Given the description of an element on the screen output the (x, y) to click on. 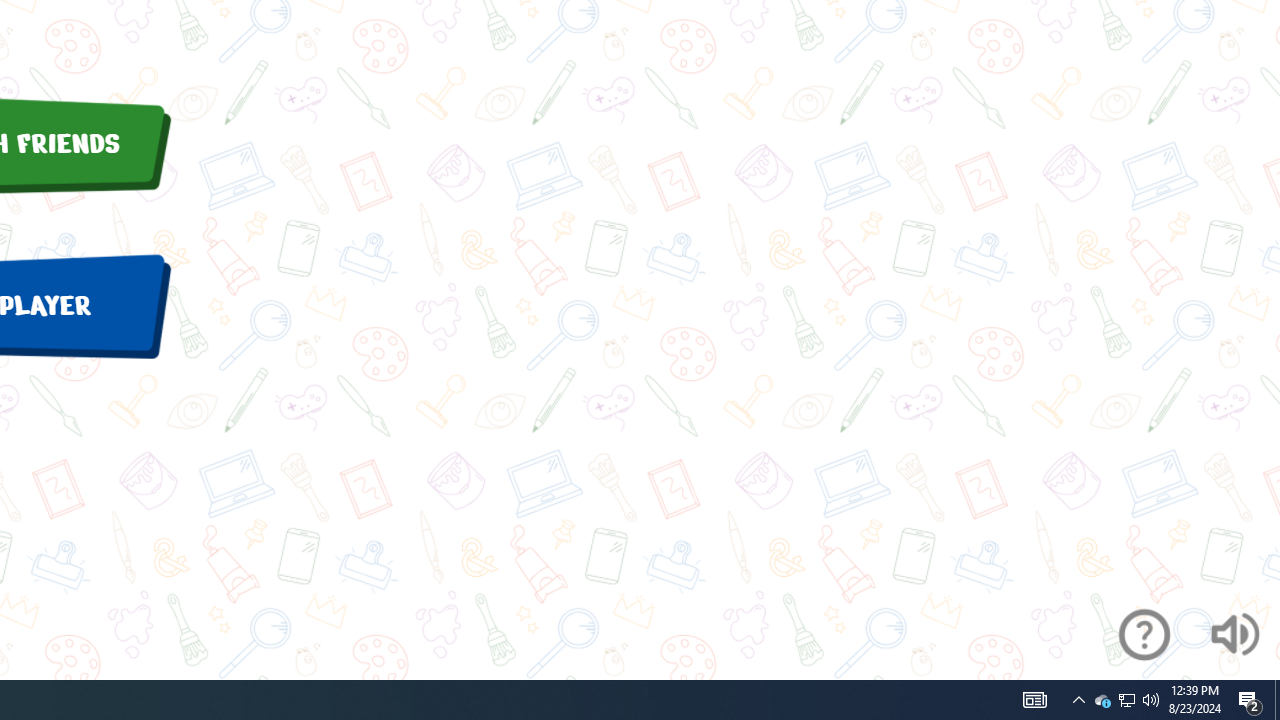
User Promoted Notification Area (1126, 699)
Action Center, 2 new notifications (1102, 699)
AutomationID: 4105 (1250, 699)
Show desktop (1126, 699)
Q2790: 100% (1034, 699)
Notification Chevron (1277, 699)
